Given the description of an element on the screen output the (x, y) to click on. 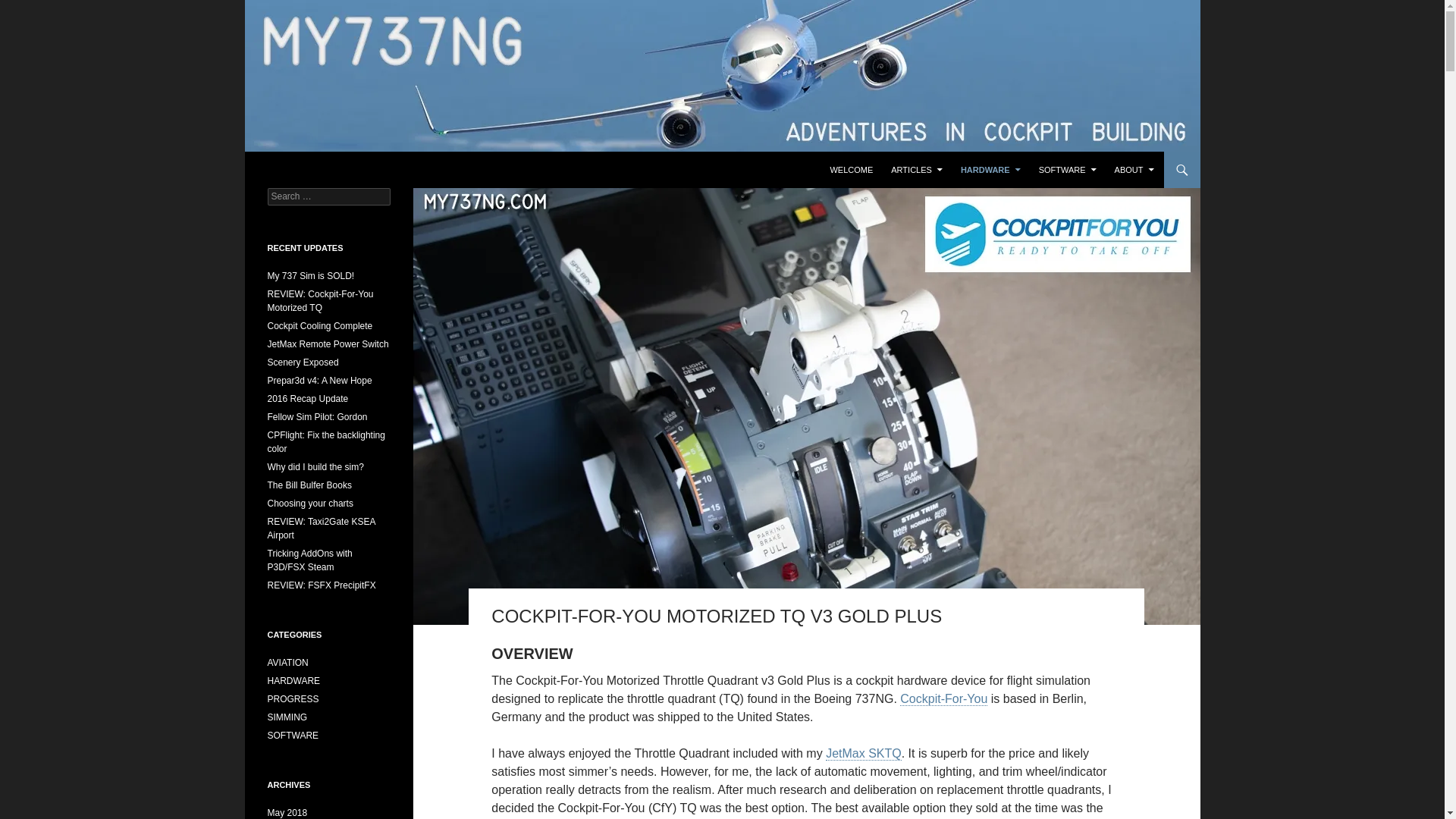
HARDWARE (990, 169)
ARTICLES (917, 169)
WELCOME (851, 169)
my737NG (298, 169)
